Given the description of an element on the screen output the (x, y) to click on. 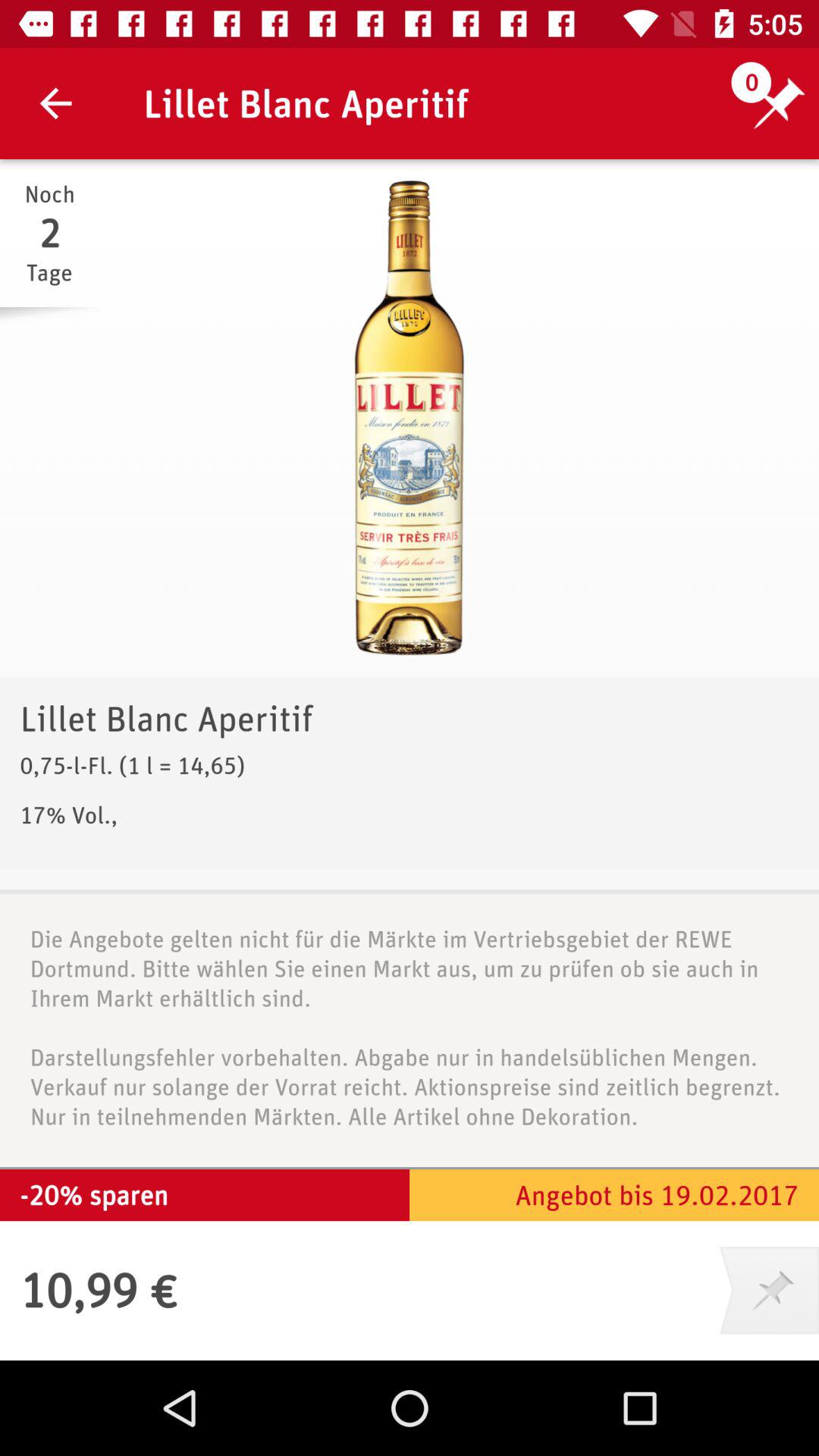
choose the item next to noch icon (409, 417)
